Given the description of an element on the screen output the (x, y) to click on. 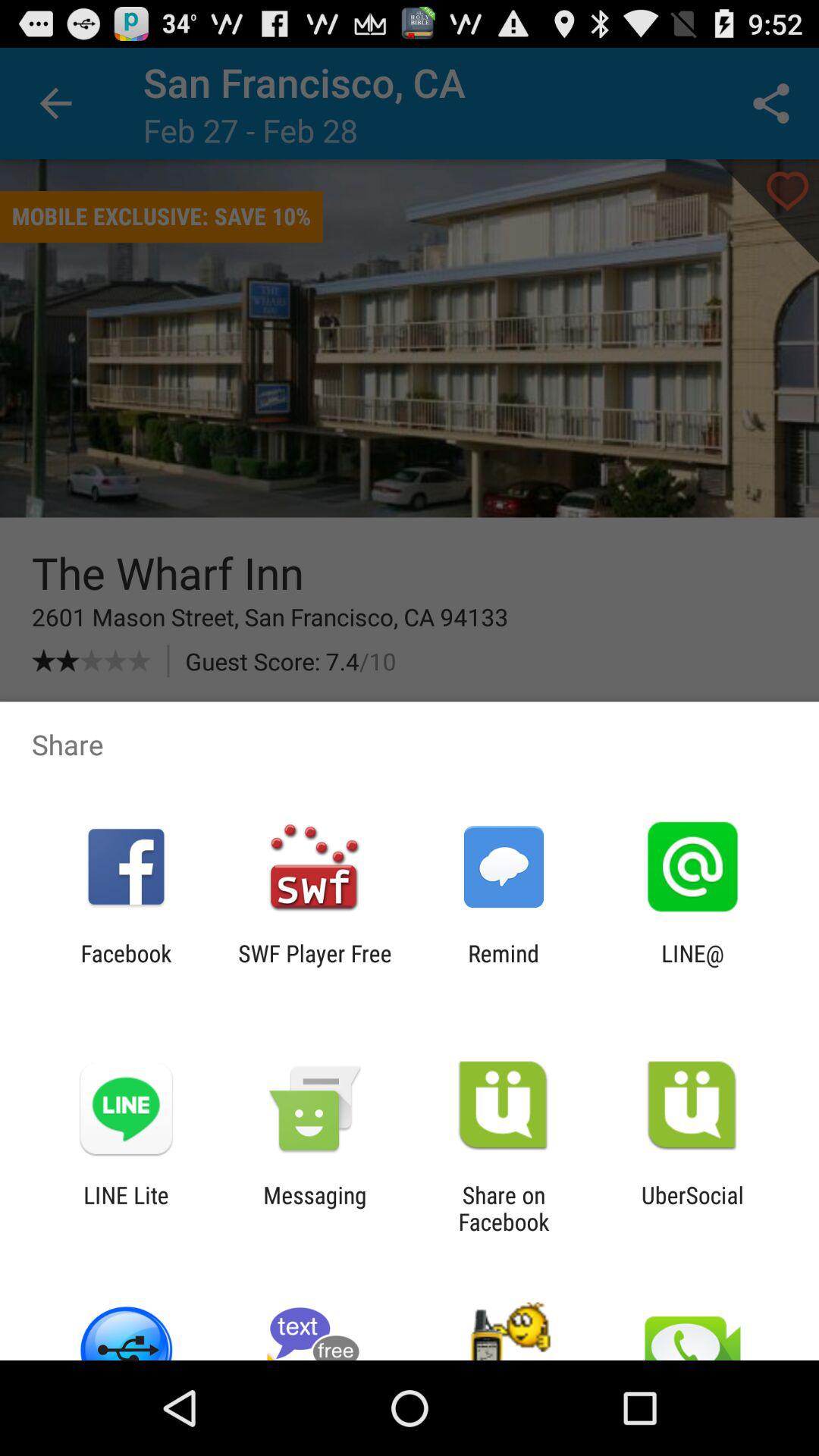
swipe to the remind icon (503, 966)
